Given the description of an element on the screen output the (x, y) to click on. 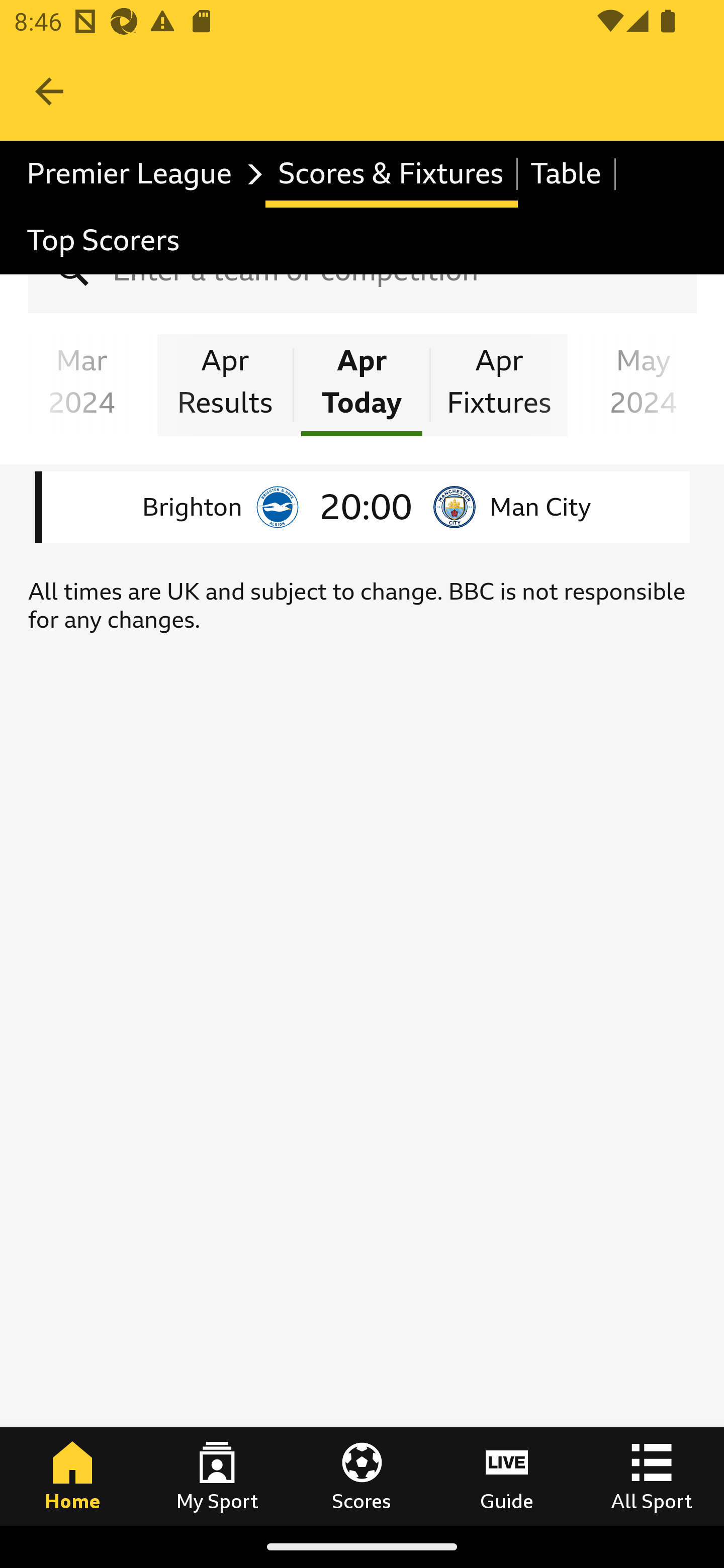
Navigate up (49, 91)
Premier League (140, 173)
Scores & Fixtures (391, 173)
Table (567, 173)
Top Scorers (103, 240)
My Sport (216, 1475)
Scores (361, 1475)
Guide (506, 1475)
All Sport (651, 1475)
Back to top (29, 1450)
